Given the description of an element on the screen output the (x, y) to click on. 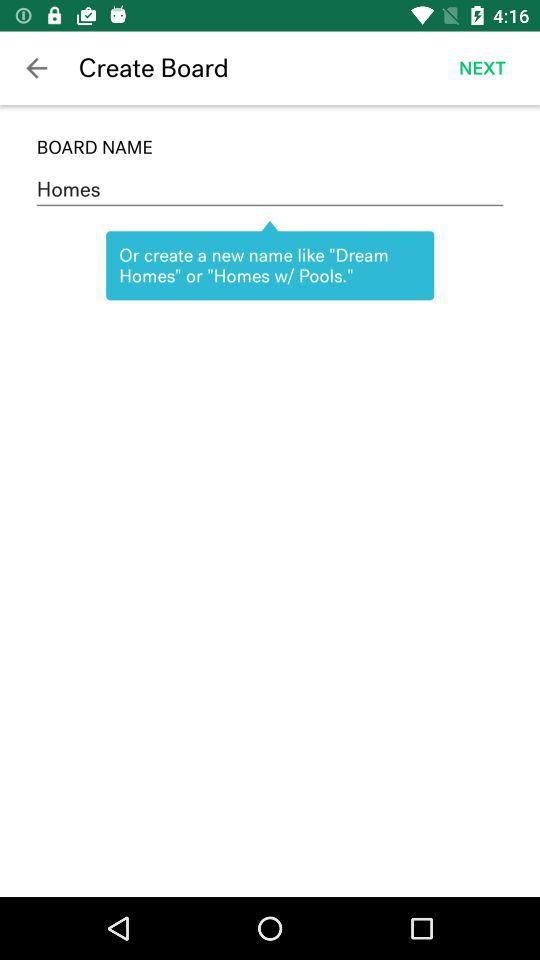
open item next to create board icon (36, 68)
